Given the description of an element on the screen output the (x, y) to click on. 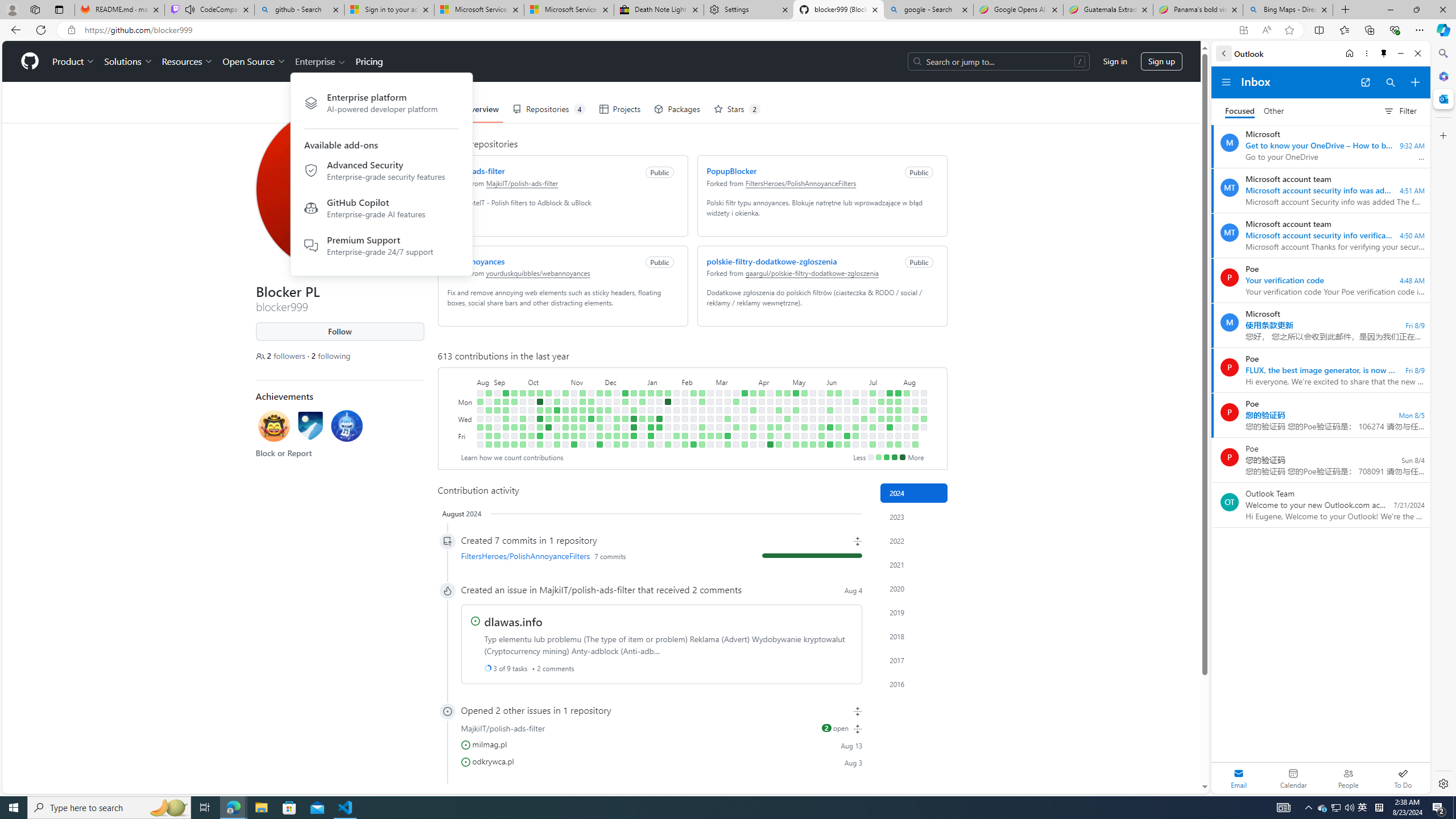
1 contribution on April 25th. (777, 427)
odkrywca.plThis contribution was made on Aug 3 (661, 760)
Enterprise platformAI-powered developer platform (381, 102)
Minimize (1401, 53)
10 contributions on July 21st. (889, 392)
May (808, 380)
Contribution activity in 2023 (913, 516)
No contributions on June 26th. (855, 418)
No contributions on May 6th. (795, 401)
5 contributions on November 15th. (582, 418)
5 contributions on November 2nd. (565, 427)
2 contributions on July 3rd. (863, 418)
No contributions on August 22nd. (923, 427)
1 contribution on May 18th. (804, 444)
No contributions on June 11th. (837, 410)
